Given the description of an element on the screen output the (x, y) to click on. 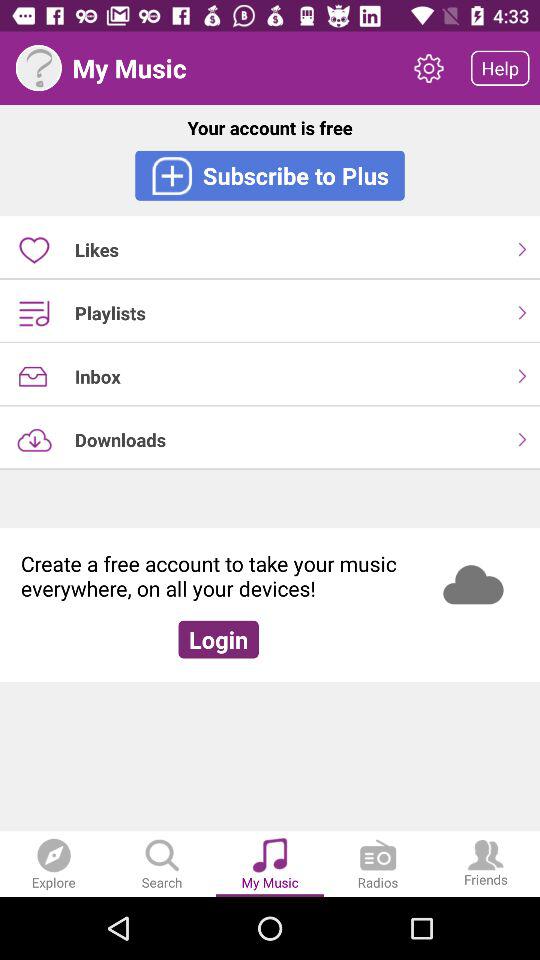
open icon above the your account is icon (500, 67)
